Given the description of an element on the screen output the (x, y) to click on. 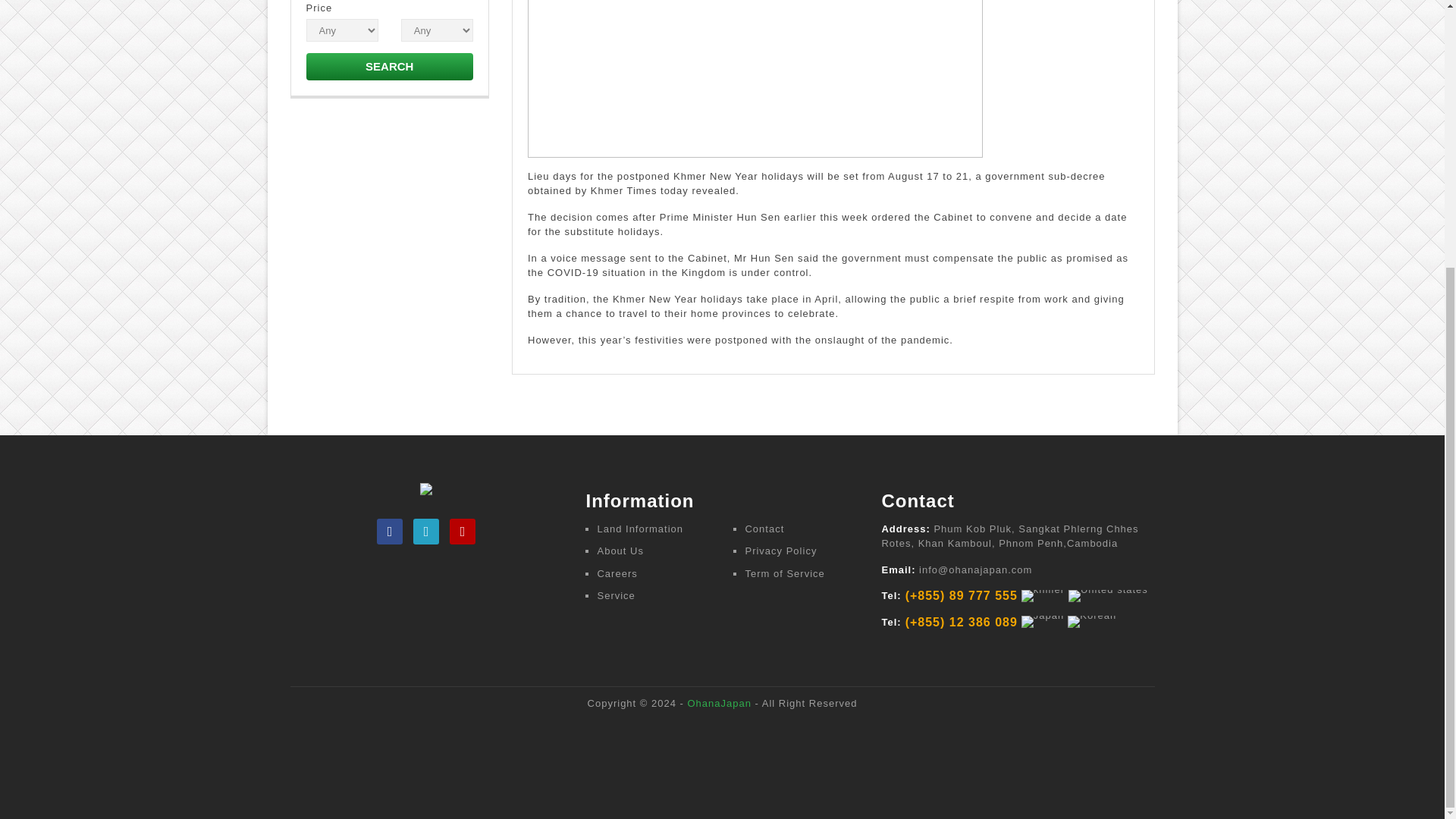
Service (615, 595)
About Us (619, 550)
OhanaJapan (719, 703)
SEARCH (389, 66)
Careers (616, 573)
Land Information (639, 528)
Term of Service (784, 573)
Privacy Policy (780, 550)
Contact (764, 528)
